Given the description of an element on the screen output the (x, y) to click on. 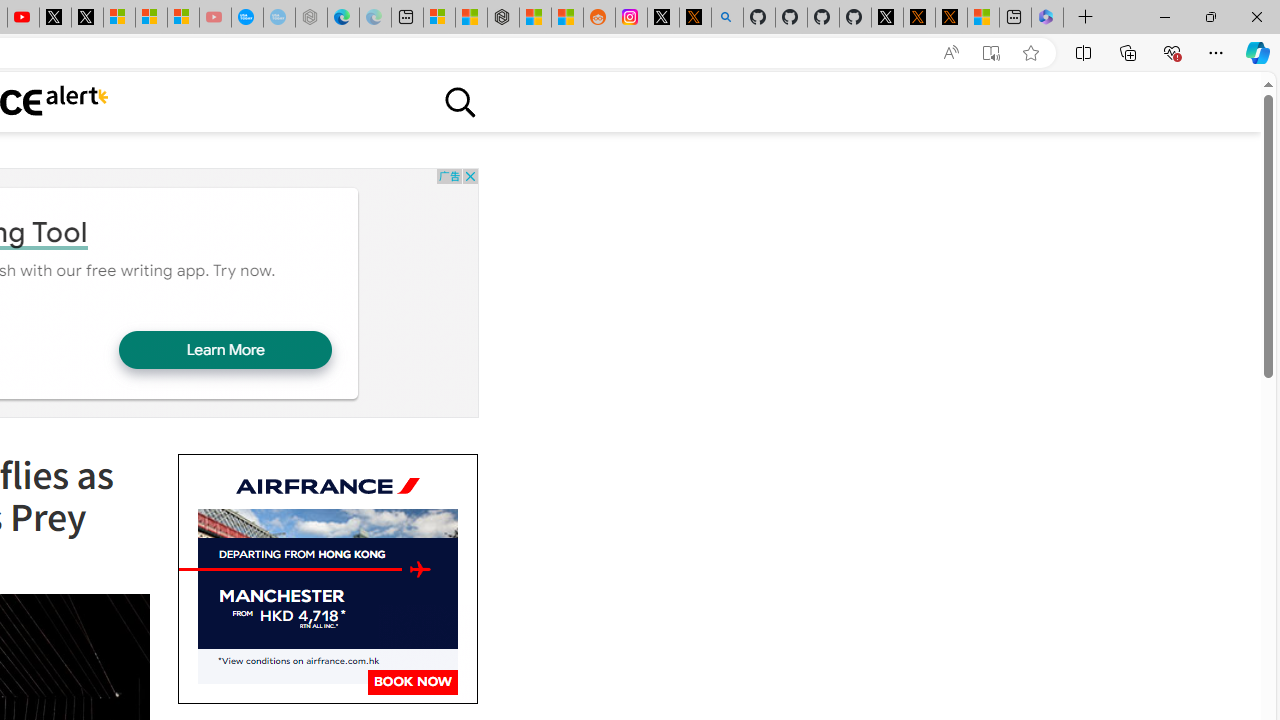
Nordace - Duffels (502, 17)
Class: sciencealert-search-desktop-svg  (459, 102)
The most popular Google 'how to' searches - Sleeping (279, 17)
Profile / X (886, 17)
Enter Immersive Reader (F9) (991, 53)
